Given the description of an element on the screen output the (x, y) to click on. 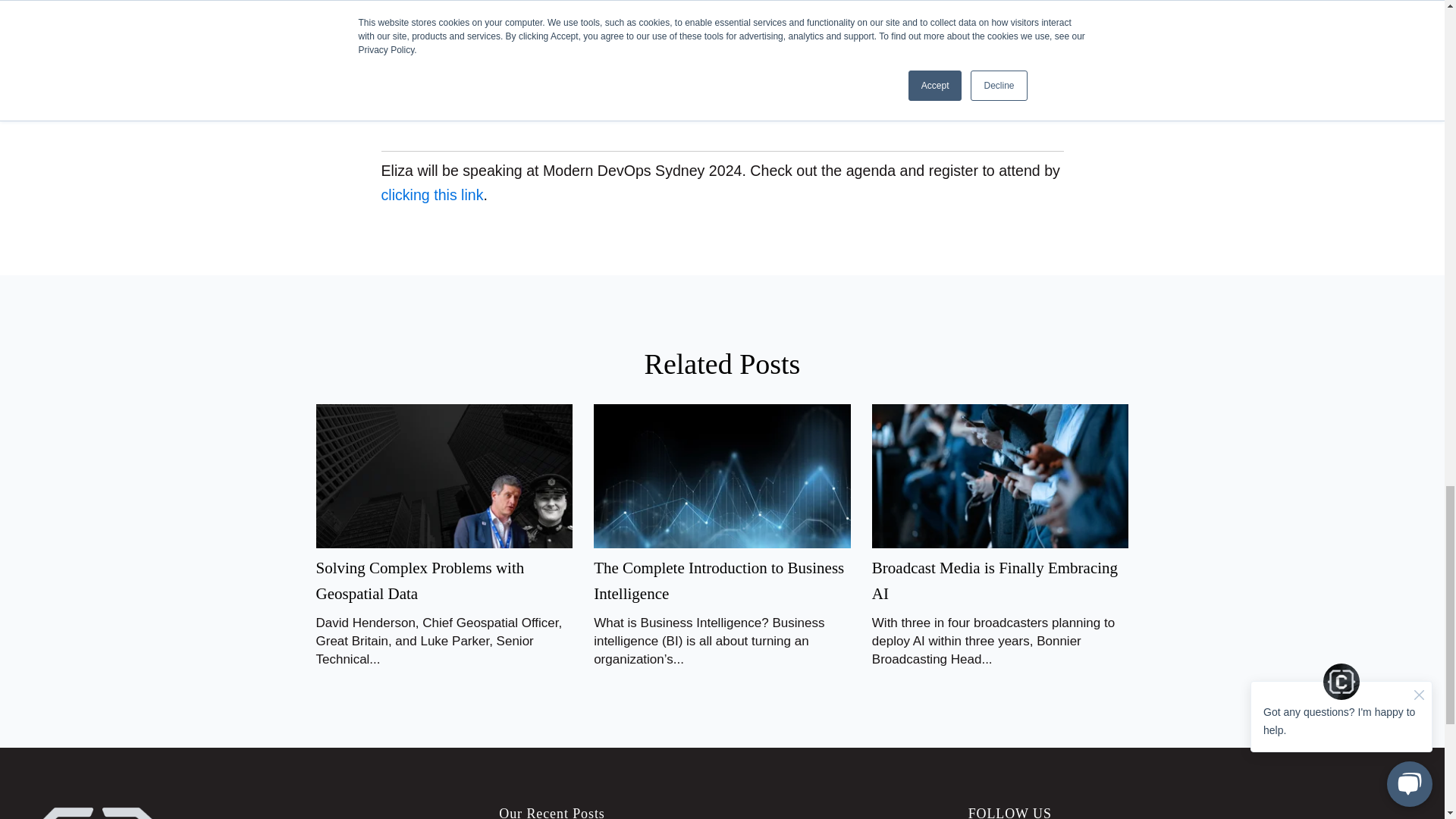
The Complete Introduction to Business Intelligence (719, 580)
clicking this link (431, 194)
Solving Complex Problems with Geospatial Data (419, 580)
Broadcast Media is Finally Embracing AI (995, 580)
